Given the description of an element on the screen output the (x, y) to click on. 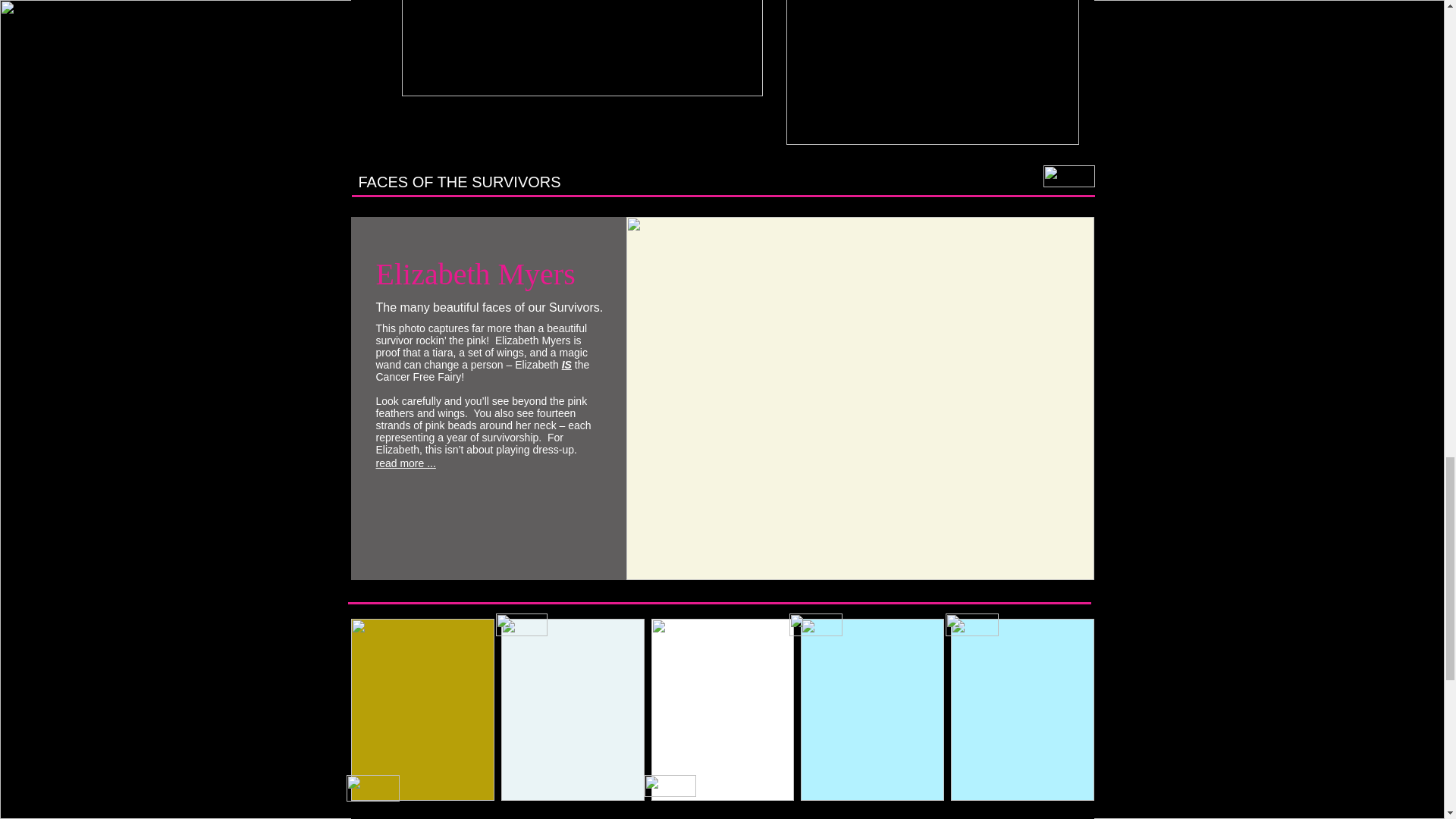
LIVE by the TIDES Logo.jpg (581, 48)
read more ... (405, 463)
ribbon.png (1068, 176)
ribbon.png (521, 624)
ribbon.png (372, 787)
ribbon.png (670, 785)
Wiley's BBQ Logo.jpg (932, 72)
